Given the description of an element on the screen output the (x, y) to click on. 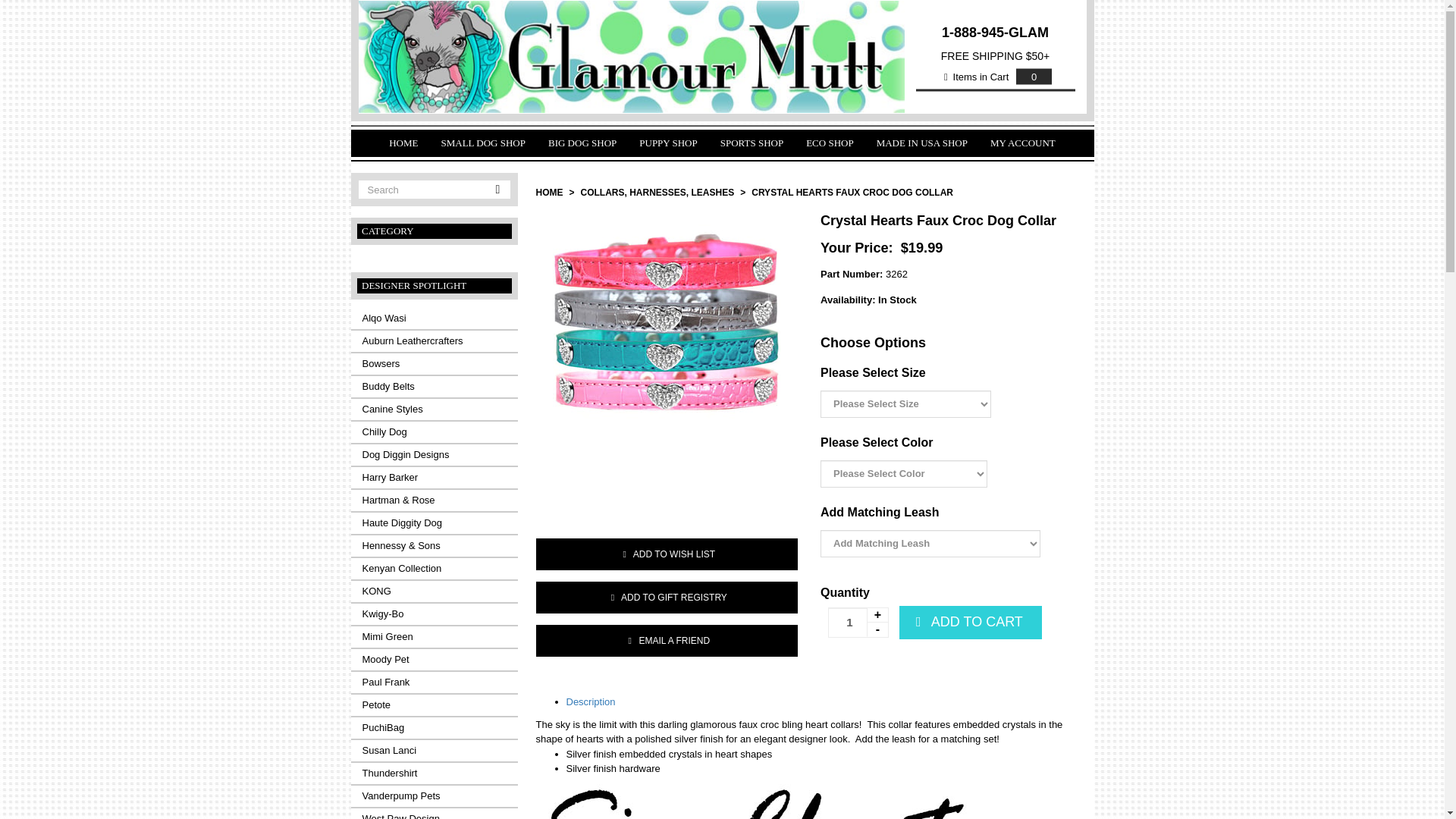
1 (858, 622)
Items in Cart 0 (995, 76)
PuchiBag (433, 727)
Auburn Leathercrafters (433, 341)
SMALL DOG SHOP (482, 143)
HOME (403, 143)
Moody Pet (433, 659)
West Paw Design (433, 813)
MADE IN USA SHOP (921, 143)
Kenyan Collection (433, 568)
